Given the description of an element on the screen output the (x, y) to click on. 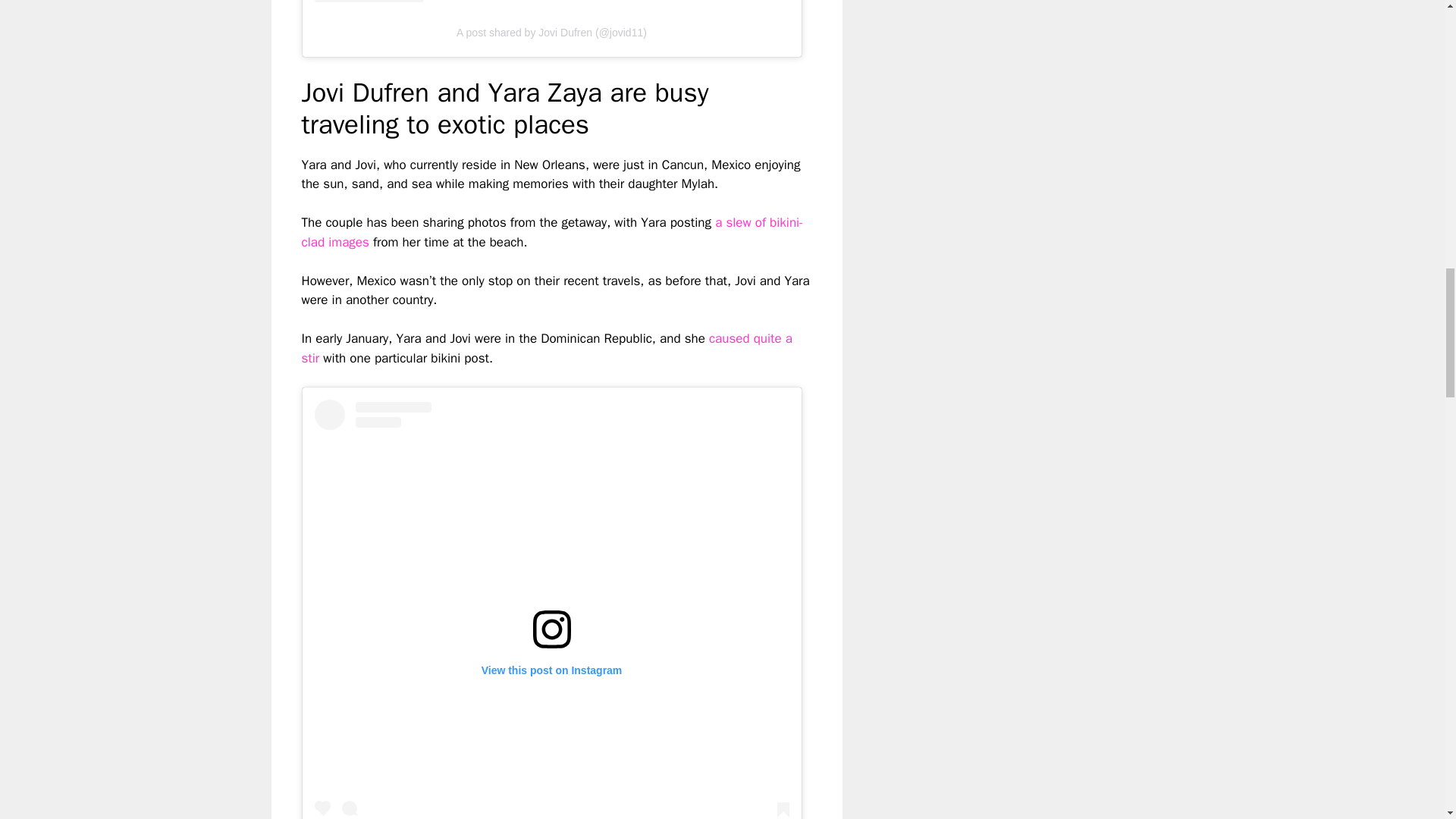
a slew of bikini-clad images (552, 232)
caused quite a stir (546, 348)
